Given the description of an element on the screen output the (x, y) to click on. 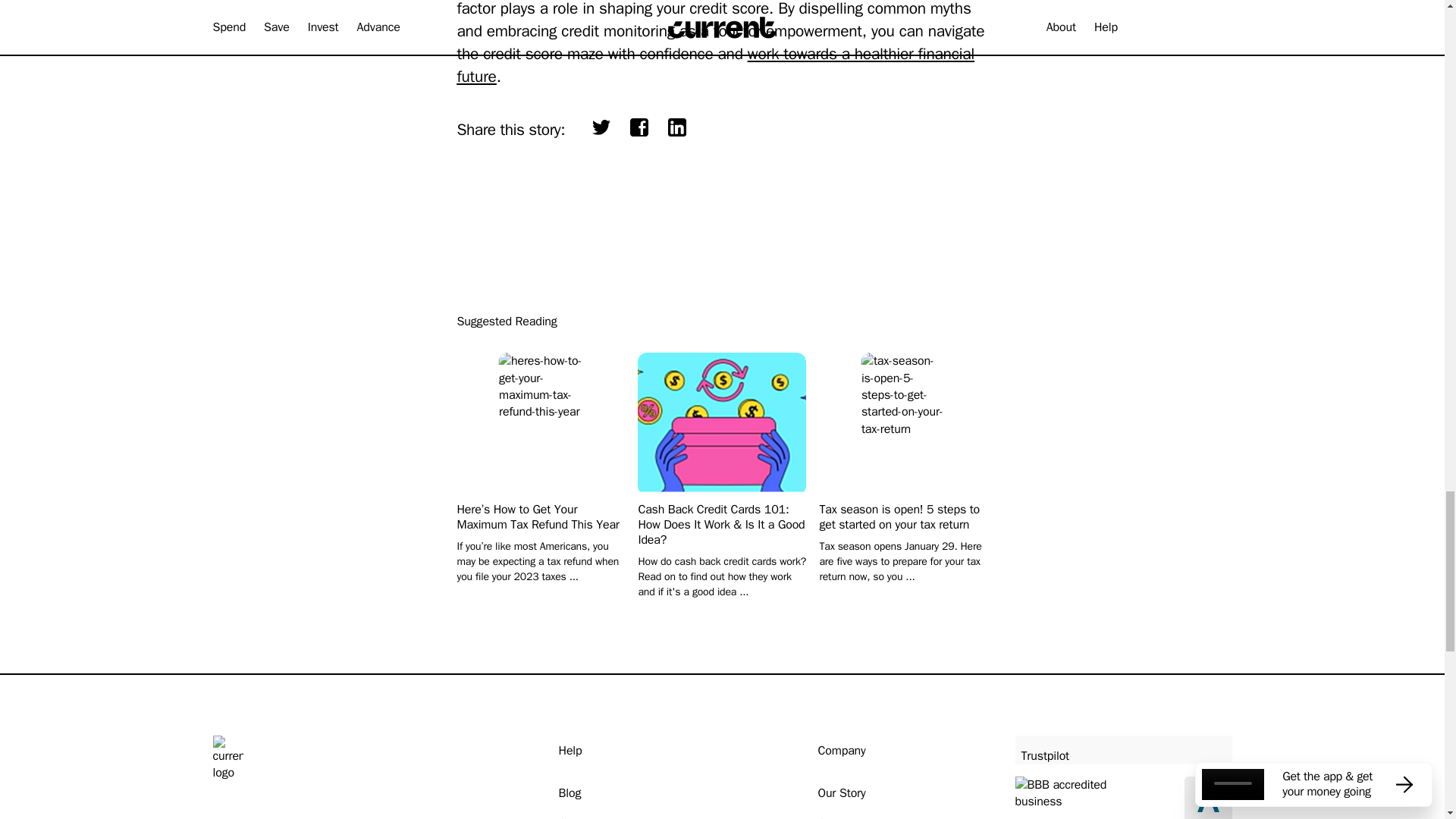
Careers (836, 816)
Contact Us (585, 816)
work towards a healthier financial future (715, 65)
Blog (568, 791)
Our Story (840, 791)
